Given the description of an element on the screen output the (x, y) to click on. 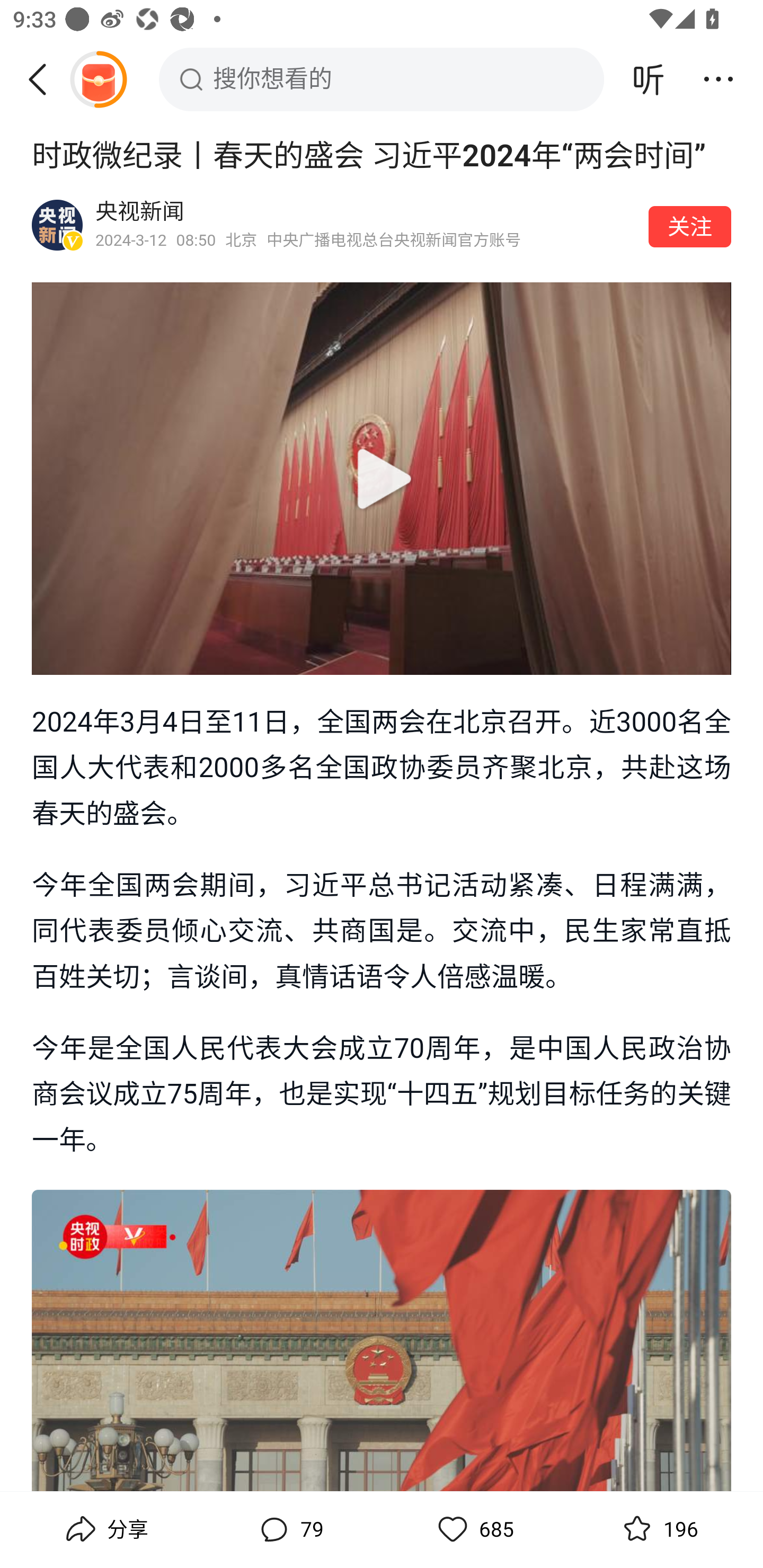
返回 (44, 78)
听头条 (648, 78)
更多操作 (718, 78)
搜你想看的 搜索框，搜你想看的 (381, 79)
阅读赚金币 (98, 79)
作者：央视新闻，简介：中央广播电视总台央视新闻官方账号，2024-3-12 08:50发布，北京 (365, 224)
关注作者 (689, 226)
播放视频 (381, 477)
播放视频 (381, 478)
图片，点击识别内容 (381, 1340)
分享 (104, 1529)
评论,79 79 (288, 1529)
收藏,196 196 (658, 1529)
